Given the description of an element on the screen output the (x, y) to click on. 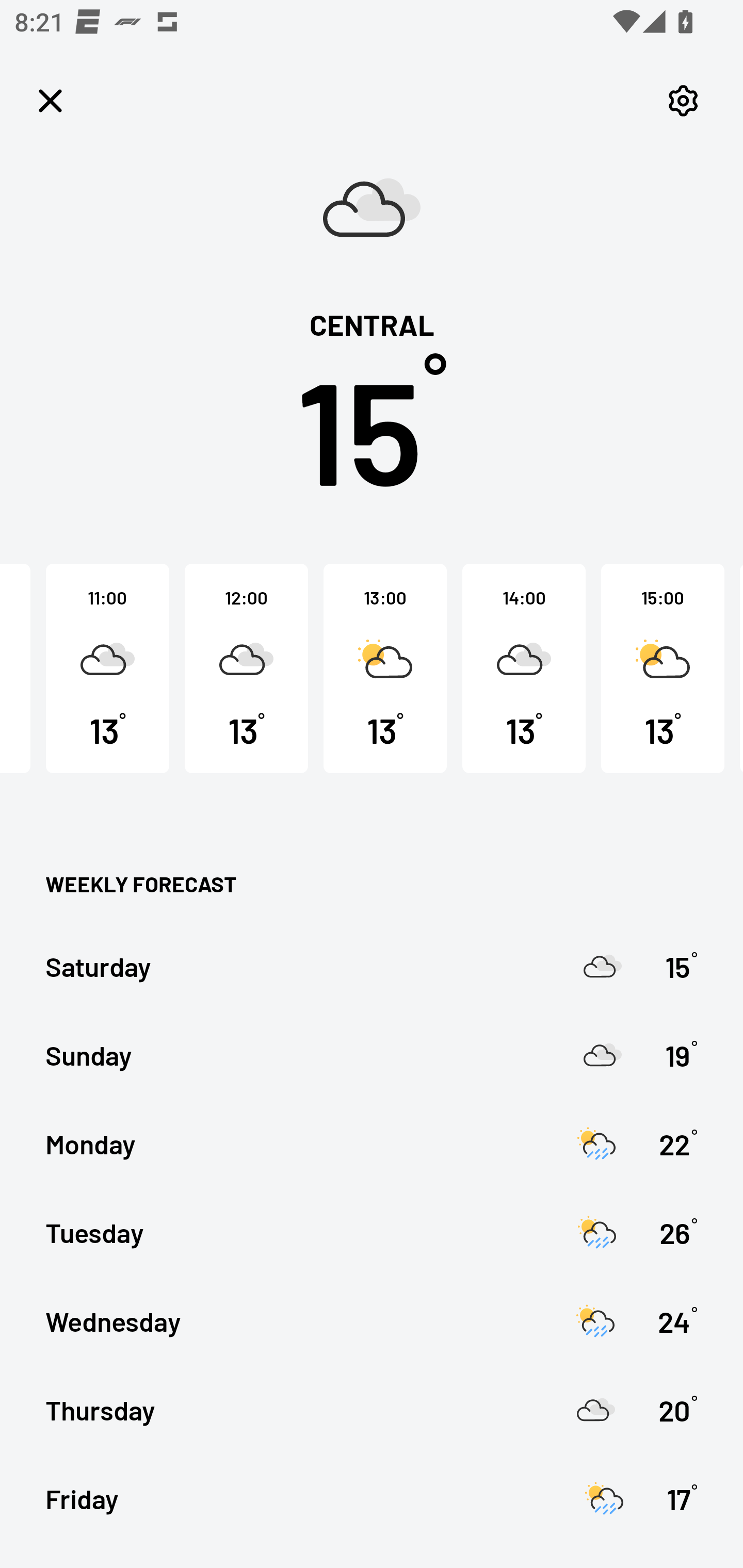
Leading Icon (50, 101)
Weather Notifications Settings (683, 101)
